Given the description of an element on the screen output the (x, y) to click on. 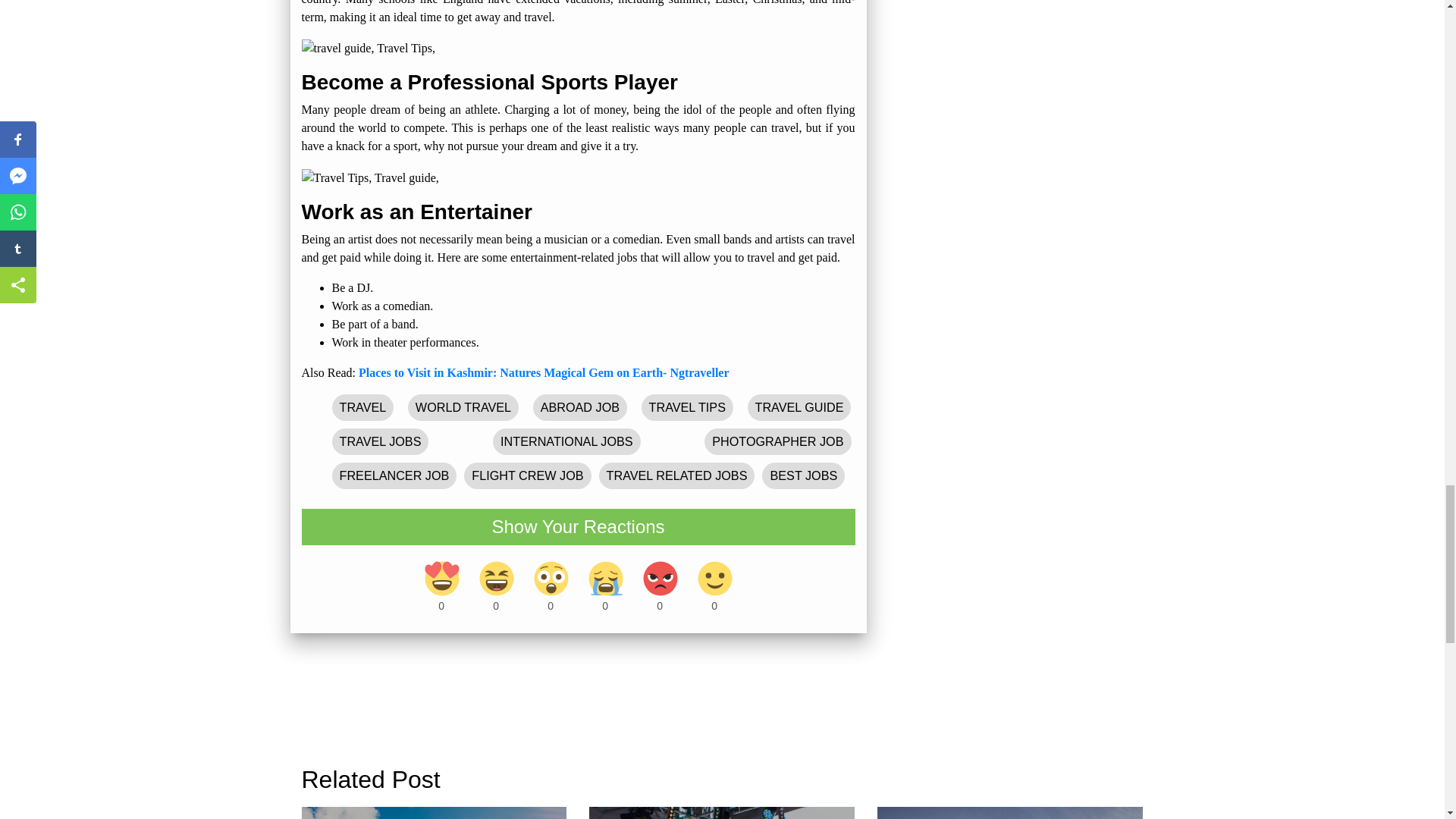
TRAVEL RELATED JOBS (677, 475)
TRAVEL TIPS (687, 407)
TRAVEL GUIDE (799, 407)
TRAVEL JOBS (380, 440)
FLIGHT CREW JOB (527, 475)
TRAVEL (363, 407)
PHOTOGRAPHER JOB (777, 440)
INTERNATIONAL JOBS (566, 440)
WORLD TRAVEL (462, 407)
FREELANCER JOB (394, 475)
ABROAD JOB (580, 407)
